Given the description of an element on the screen output the (x, y) to click on. 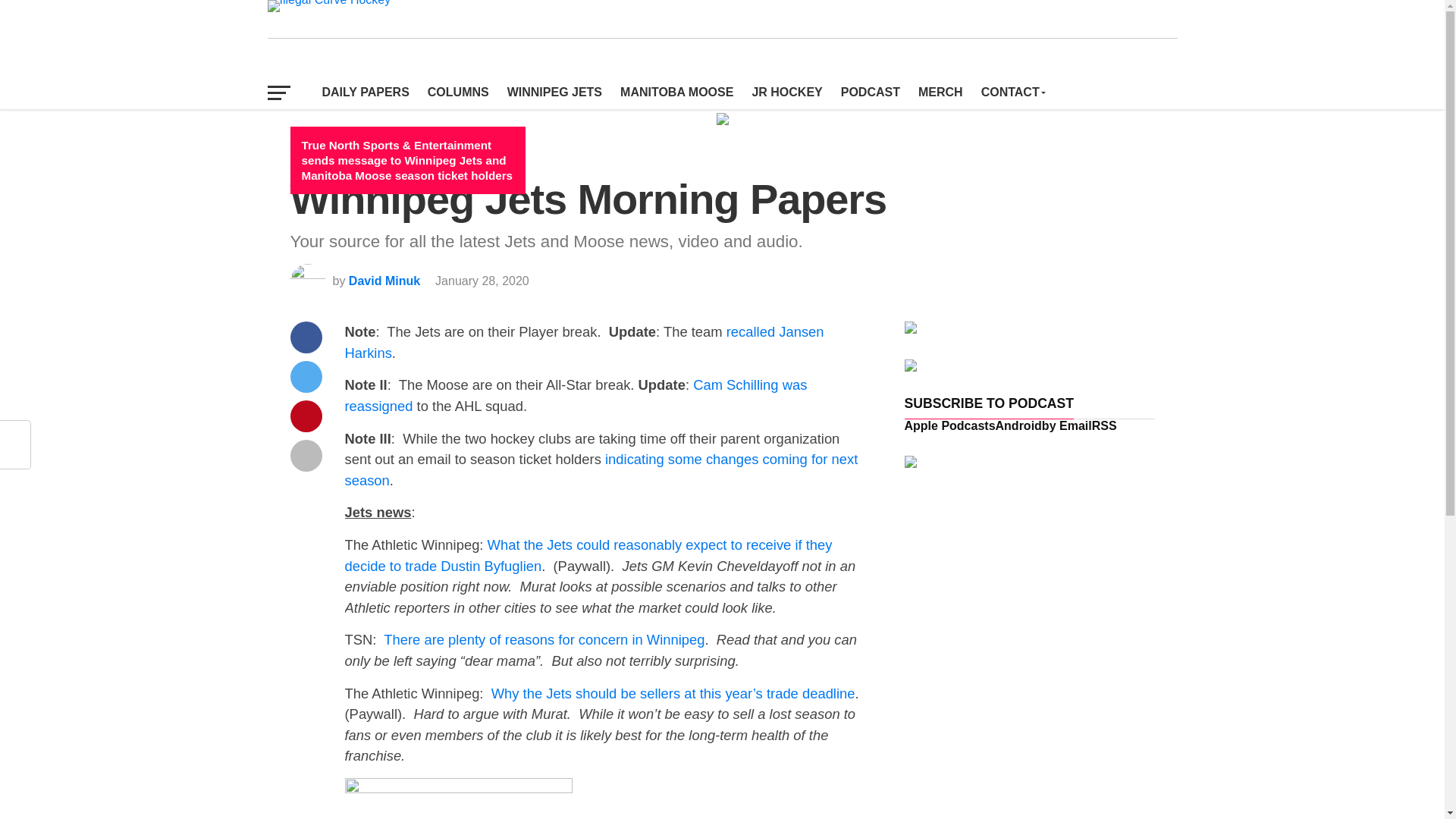
MANITOBA MOOSE (676, 92)
David Minuk (384, 280)
Subscribe on Apple Podcasts (949, 425)
JR HOCKEY (786, 92)
CONTACT (1012, 92)
recalled Jansen Harkins (583, 342)
Posts by David Minuk (384, 280)
Cam Schilling was reassigned (574, 395)
MERCH (940, 92)
Subscribe on Android (1018, 425)
